Given the description of an element on the screen output the (x, y) to click on. 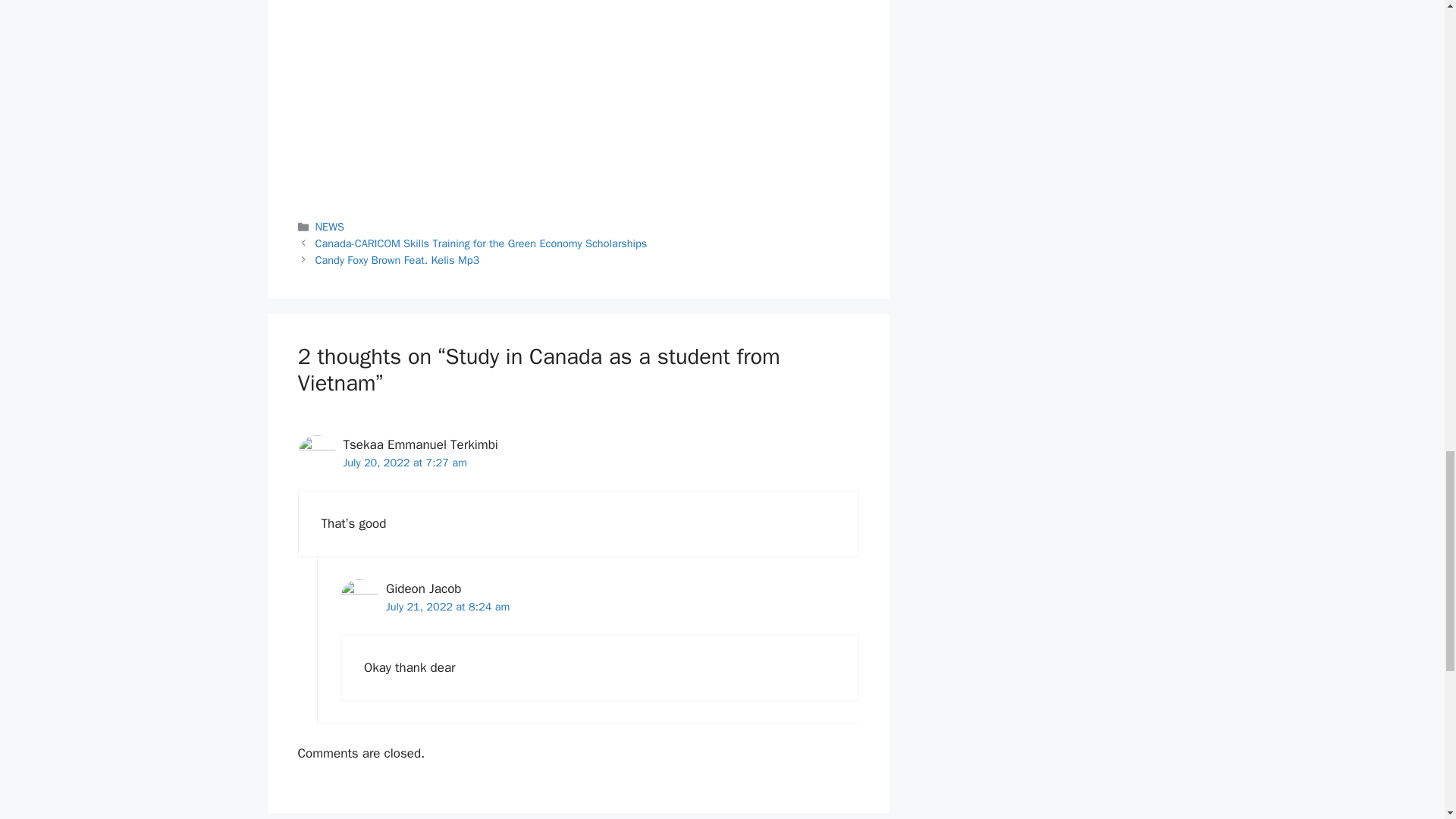
Candy Foxy Brown Feat. Kelis Mp3 (397, 259)
NEWS (329, 226)
July 20, 2022 at 7:27 am (403, 462)
July 21, 2022 at 8:24 am (447, 606)
Advertisement (578, 99)
